Given the description of an element on the screen output the (x, y) to click on. 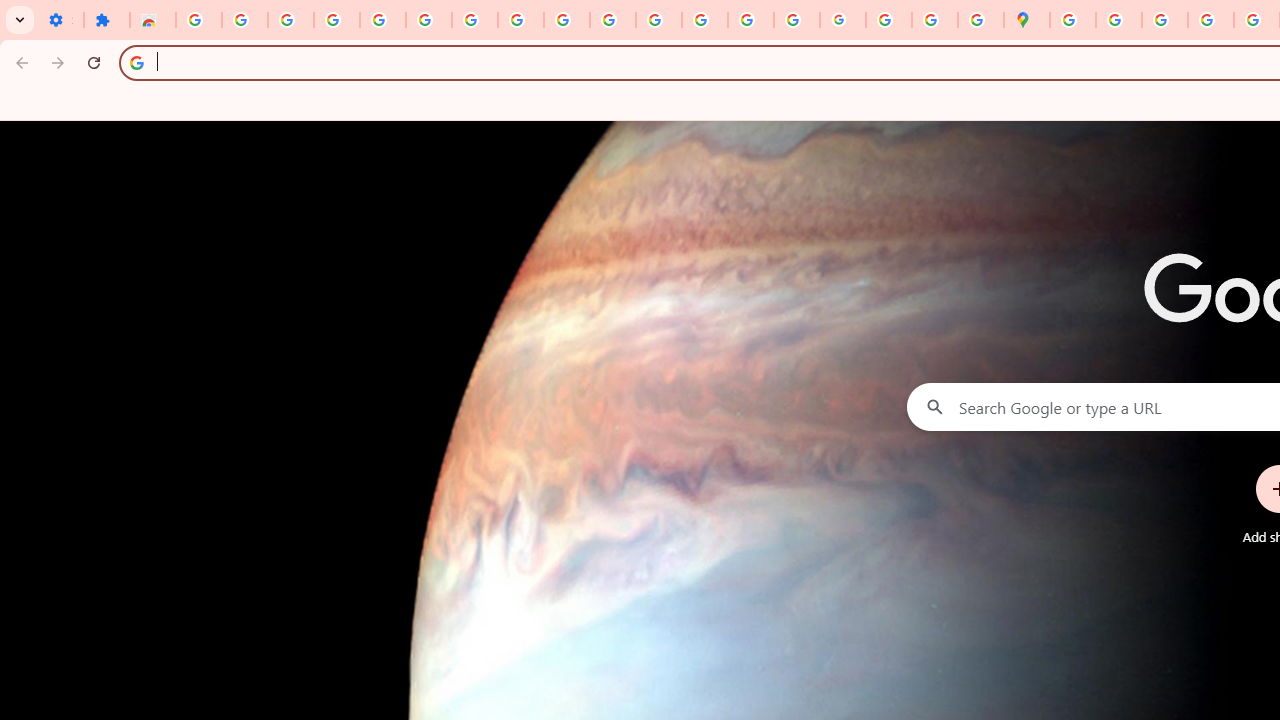
https://scholar.google.com/ (659, 20)
Sign in - Google Accounts (198, 20)
Reviews: Helix Fruit Jump Arcade Game (153, 20)
Google Maps (1026, 20)
Sign in - Google Accounts (428, 20)
